Given the description of an element on the screen output the (x, y) to click on. 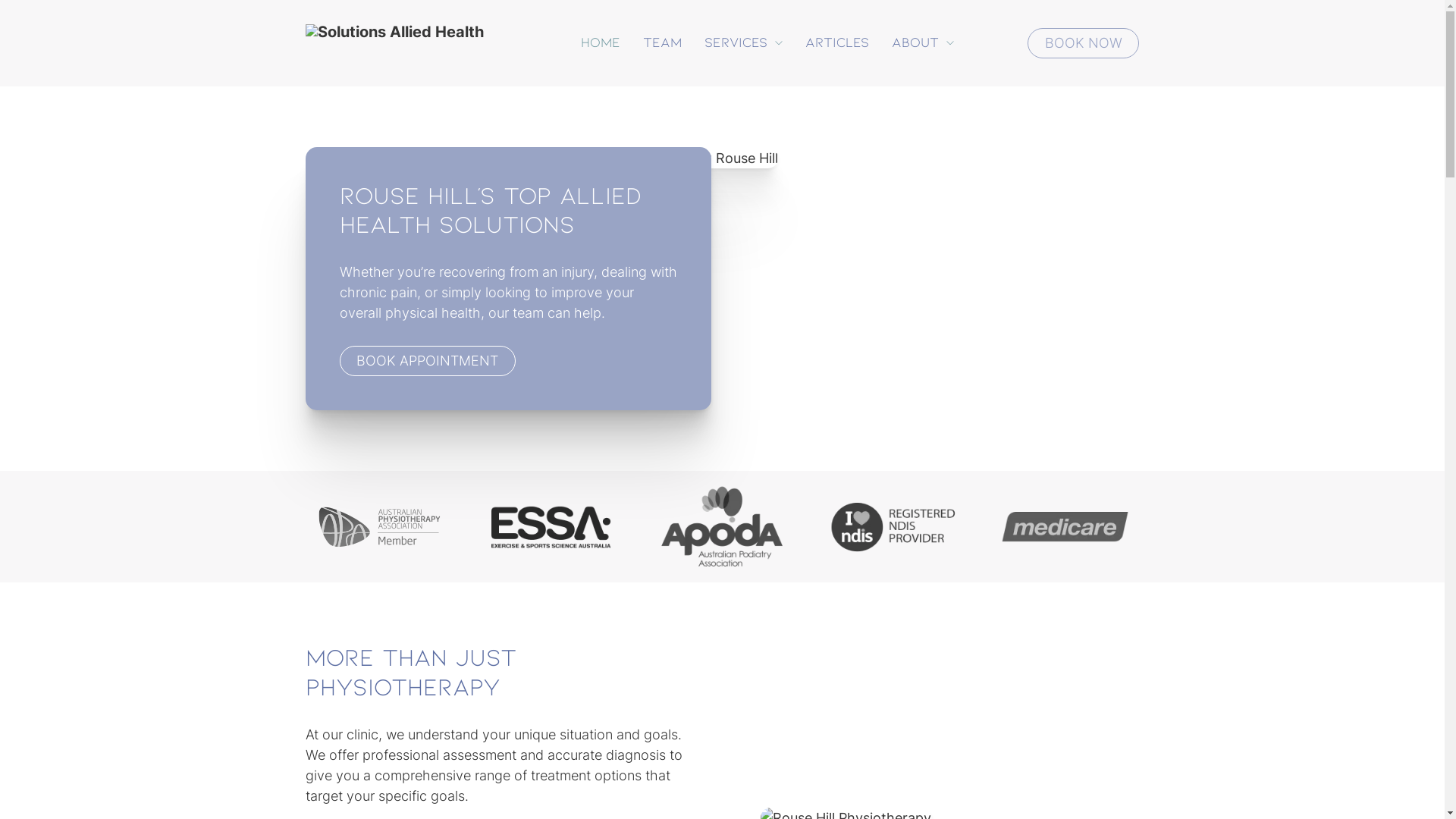
Team Element type: text (662, 42)
Services Element type: text (735, 42)
BOOK NOW Element type: text (1083, 43)
Home Element type: text (600, 42)
BOOK APPOINTMENT Element type: text (427, 360)
Articles Element type: text (837, 42)
About Element type: text (914, 42)
